Given the description of an element on the screen output the (x, y) to click on. 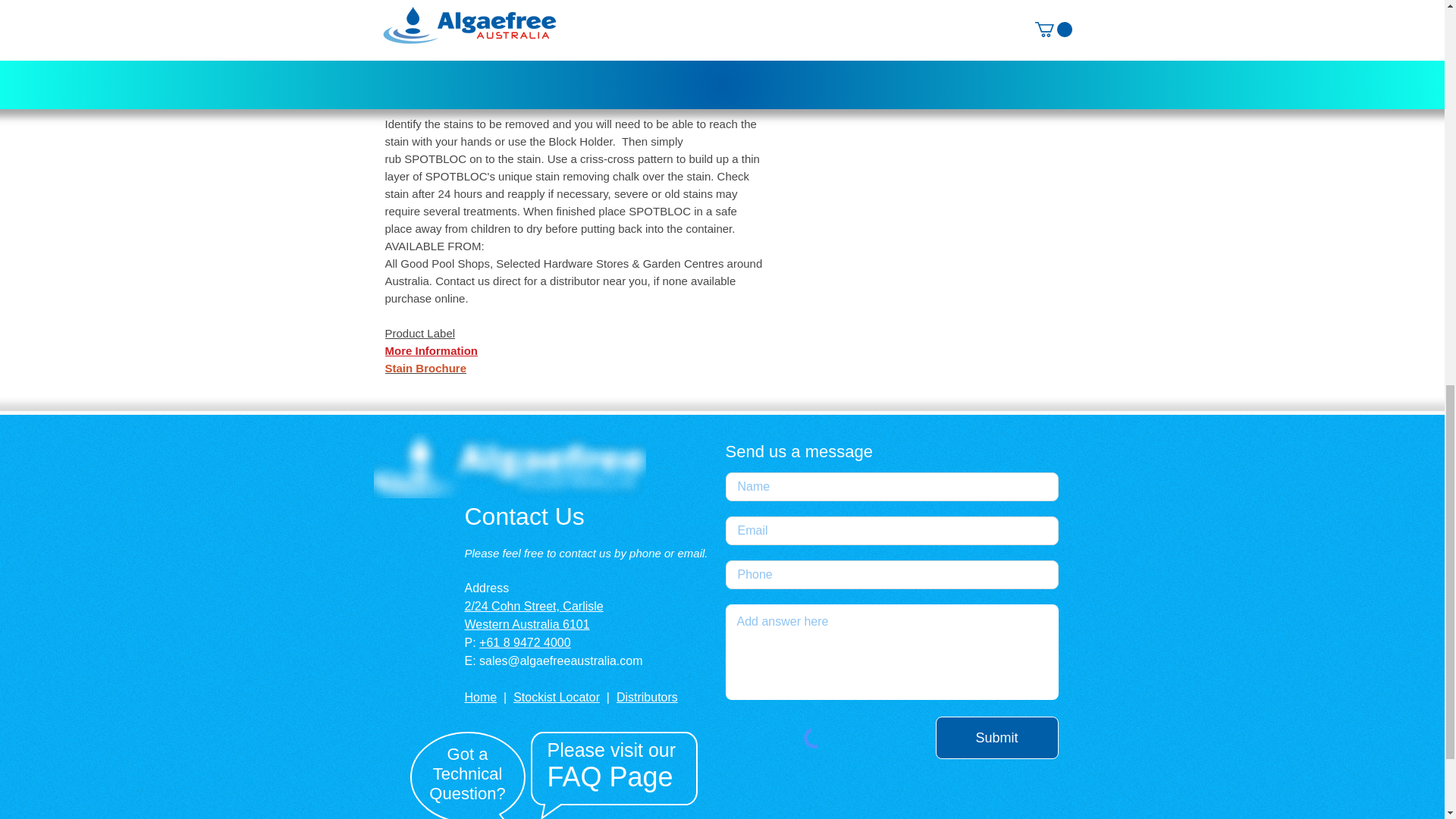
More Information (432, 350)
Stockist Locator (556, 697)
Distributors (646, 697)
Home (480, 697)
Submit (997, 737)
